Given the description of an element on the screen output the (x, y) to click on. 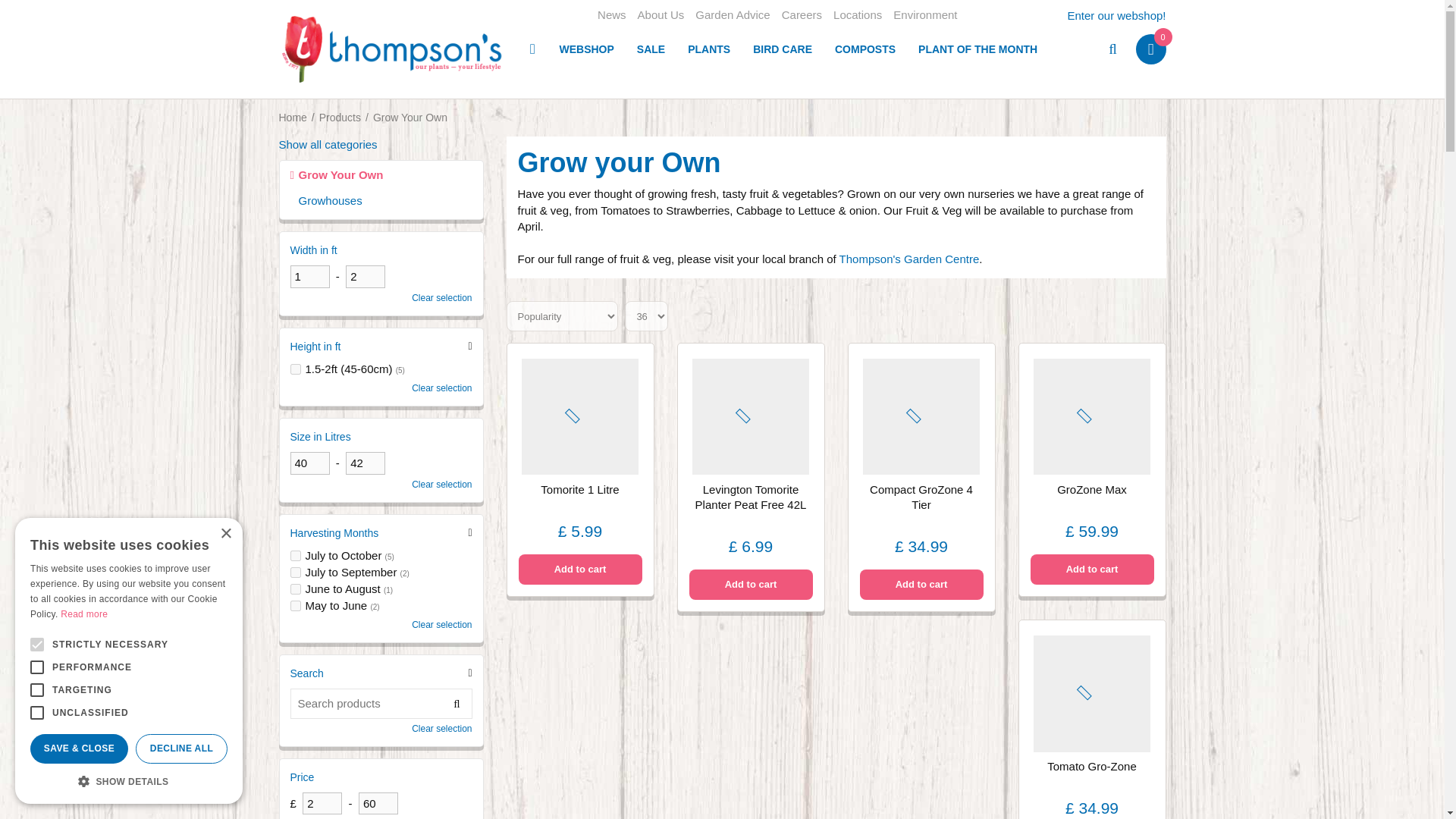
News (611, 14)
Garden Advice (732, 14)
SALE (651, 49)
1 (309, 276)
Careers (801, 14)
Home (531, 49)
Environment (924, 14)
WEBSHOP (585, 49)
Products (339, 117)
40 (309, 463)
About Us (660, 14)
Products (339, 117)
Locations (857, 14)
2 (322, 803)
42 (365, 463)
